Given the description of an element on the screen output the (x, y) to click on. 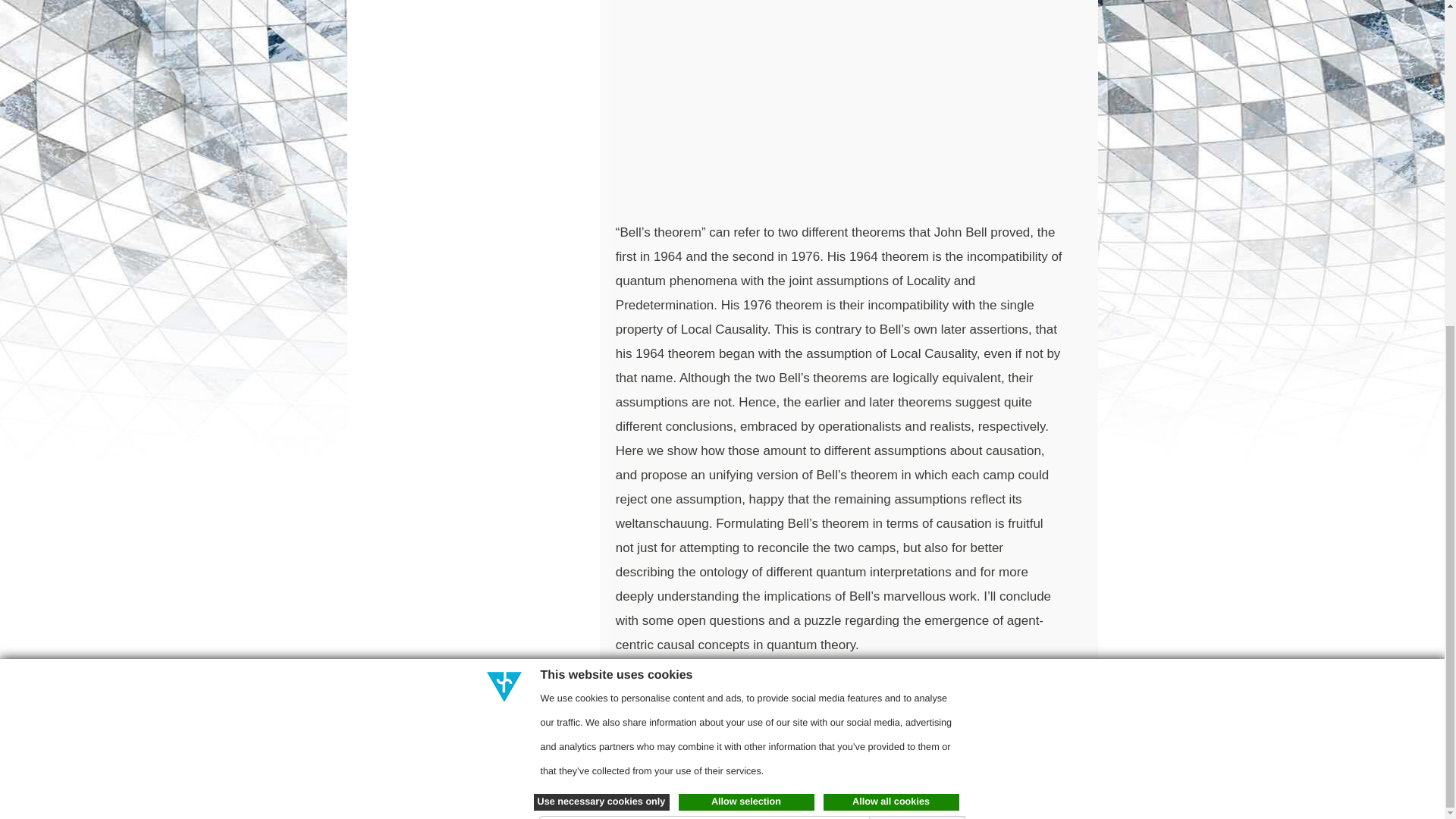
Show details (908, 291)
Use necessary cookies only (601, 267)
Allow all cookies (891, 267)
Allow selection (745, 267)
